Given the description of an element on the screen output the (x, y) to click on. 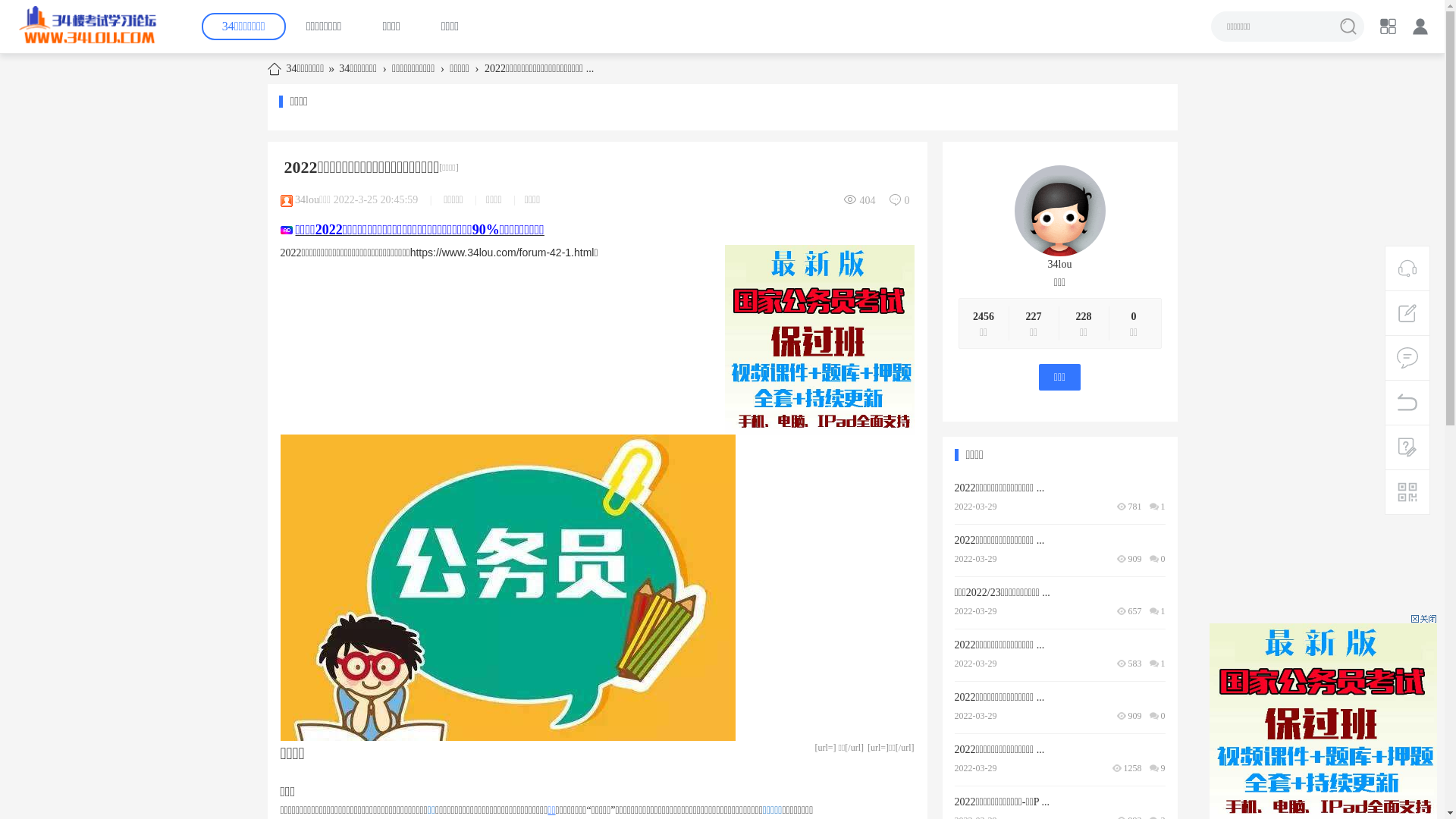
34lou Element type: text (1060, 263)
2456 Element type: text (983, 316)
227 Element type: text (1033, 316)
228 Element type: text (1083, 316)
0 Element type: text (1133, 316)
34lou Element type: text (306, 199)
true Element type: text (1348, 26)
